Given the description of an element on the screen output the (x, y) to click on. 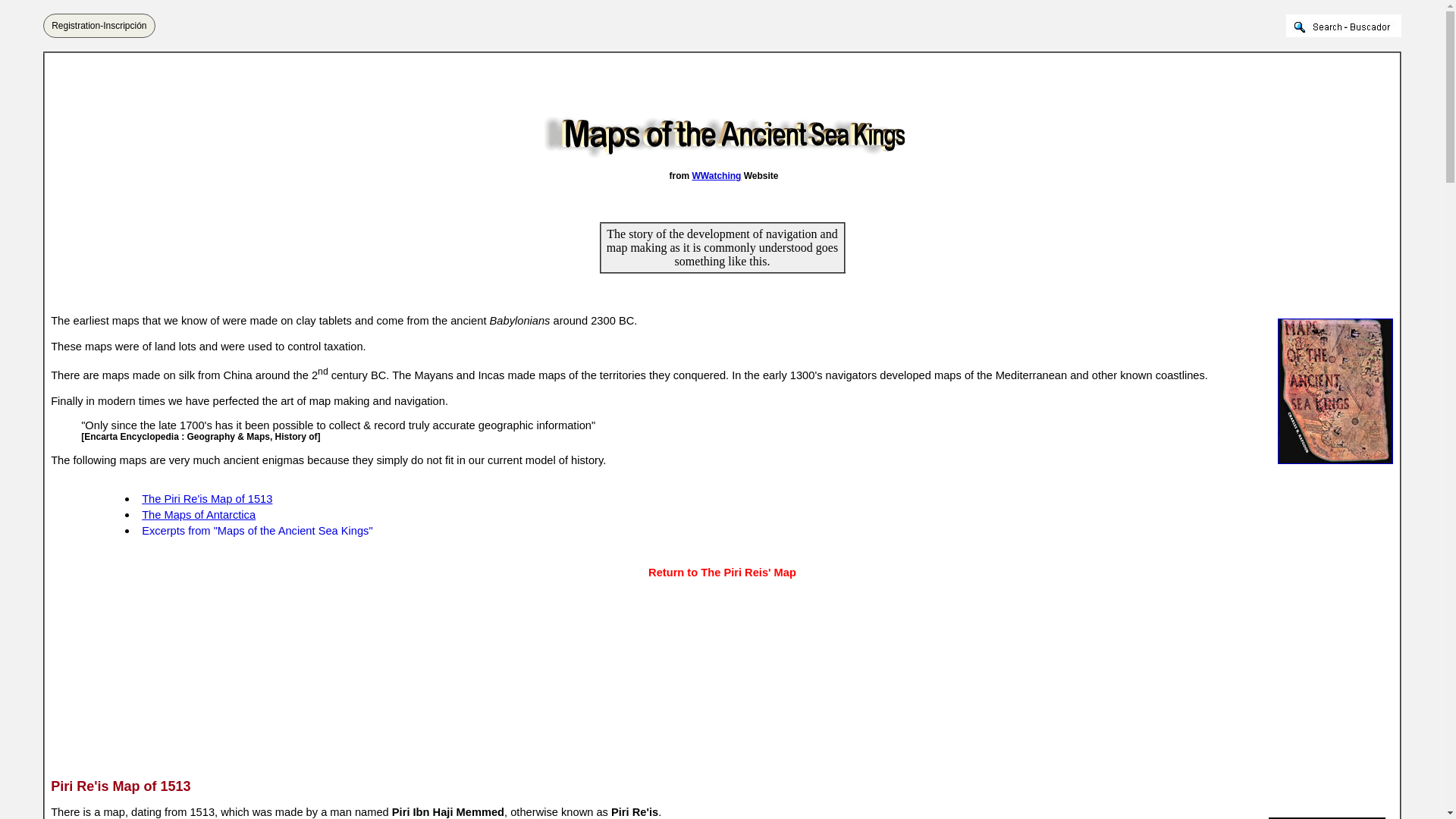
Return to The Piri Reis' Map (721, 571)
WWatching (716, 175)
The Maps of Antarctica (198, 514)
Excerpts from "Maps of the Ancient Sea Kings (254, 530)
The Piri Re'is Map of 1513 (206, 499)
